Given the description of an element on the screen output the (x, y) to click on. 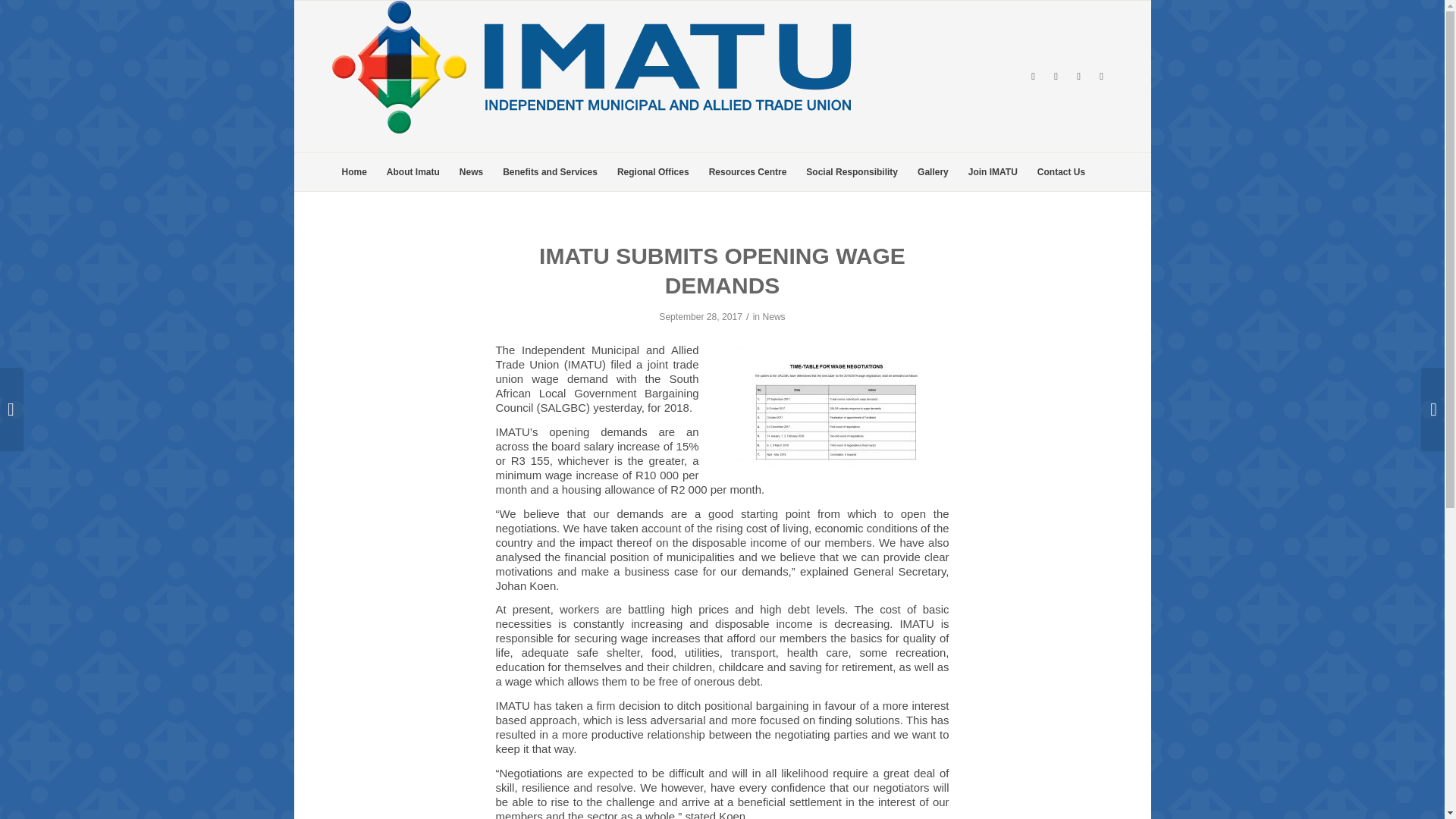
imatu-logo-slogan (591, 66)
Resources Centre (747, 171)
News (772, 317)
News (471, 171)
imatu-logo-slogan (591, 76)
Regional Offices (652, 171)
Benefits and Services (550, 171)
Home (354, 171)
About Imatu (413, 171)
